Given the description of an element on the screen output the (x, y) to click on. 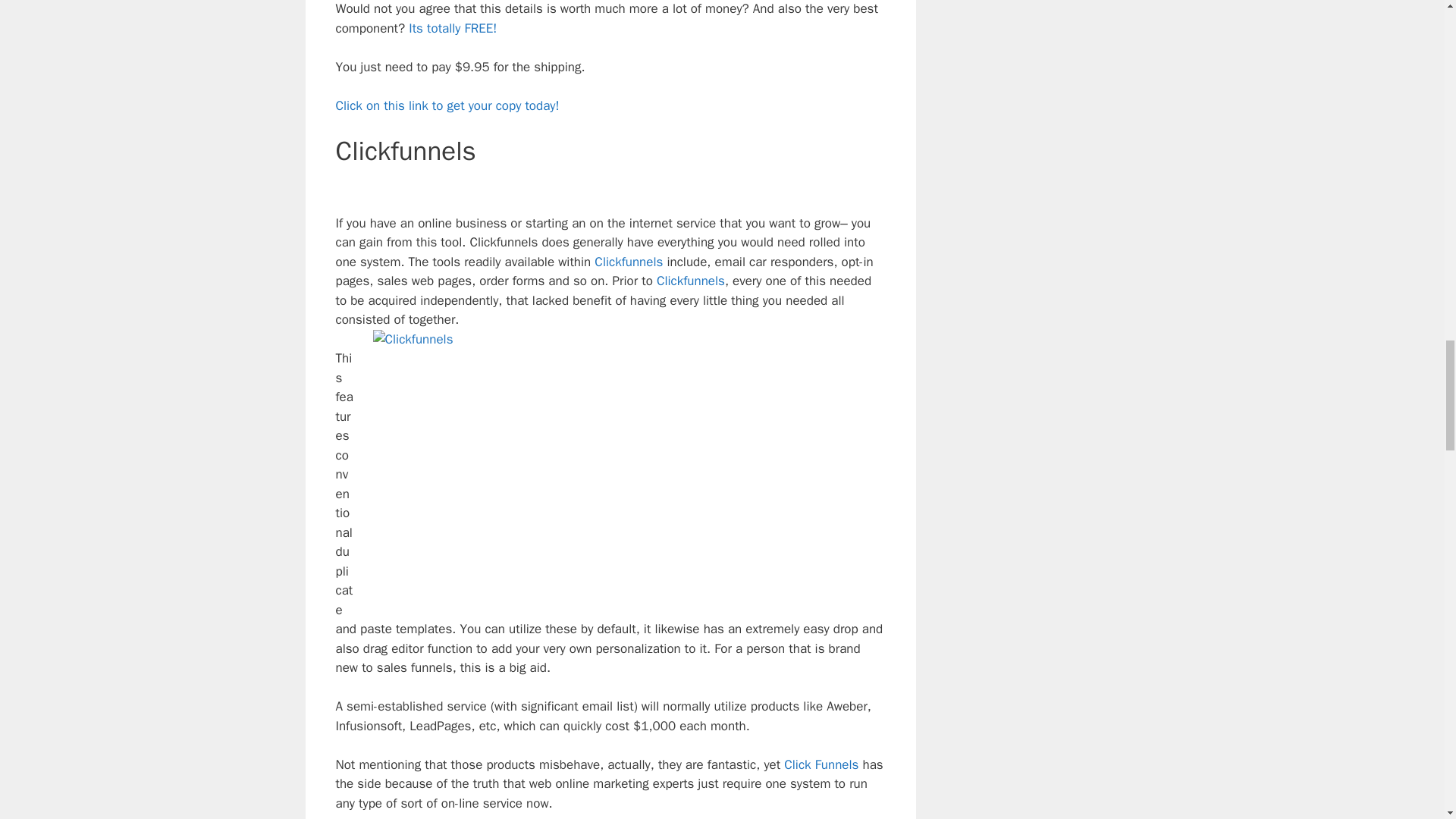
Its totally FREE! (452, 28)
Click Funnels (821, 764)
Clickfunnels (628, 261)
Click on this link to get your copy today! (446, 105)
Clickfunnels (690, 280)
